Given the description of an element on the screen output the (x, y) to click on. 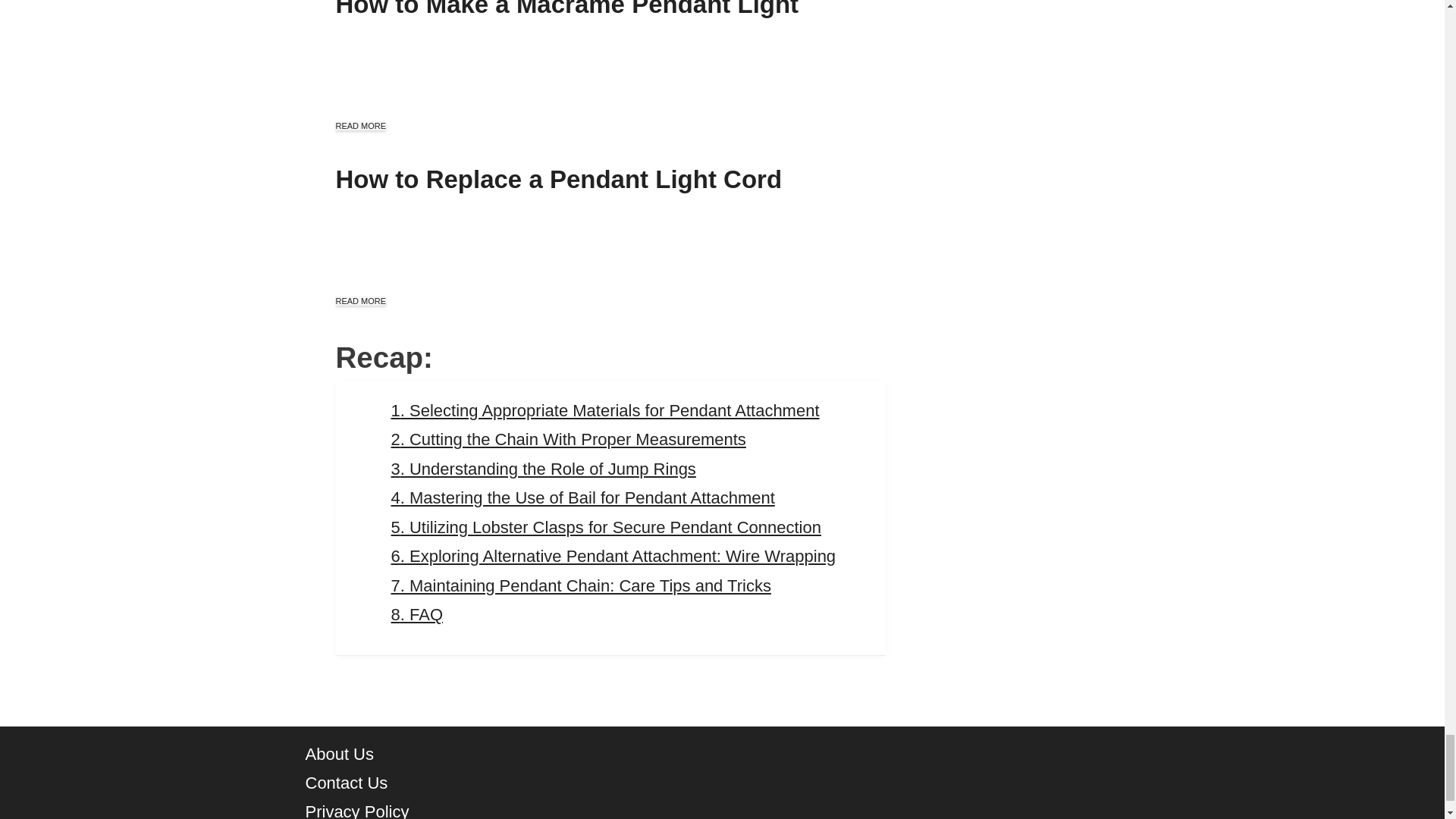
Exploring Alternative Pendant Attachment: Wire Wrapping (613, 556)
Cutting the Chain With Proper Measurements (568, 438)
How to Replace a Pendant Light Cord (557, 179)
Understanding the Role of Jump Rings (543, 468)
How to Replace a Pendant Light Cord (557, 179)
Utilizing Lobster Clasps for Secure Pendant Connection (606, 527)
How to Make a Macrame Pendant Light (565, 9)
How to Make a Macrame Pendant Light (565, 9)
READ MORE (359, 300)
Mastering the Use of Bail for Pendant Attachment (582, 497)
Maintaining Pendant Chain: Care Tips and Tricks (581, 585)
READ MORE (359, 125)
FAQ (417, 614)
Selecting Appropriate Materials for Pendant Attachment (605, 410)
